Given the description of an element on the screen output the (x, y) to click on. 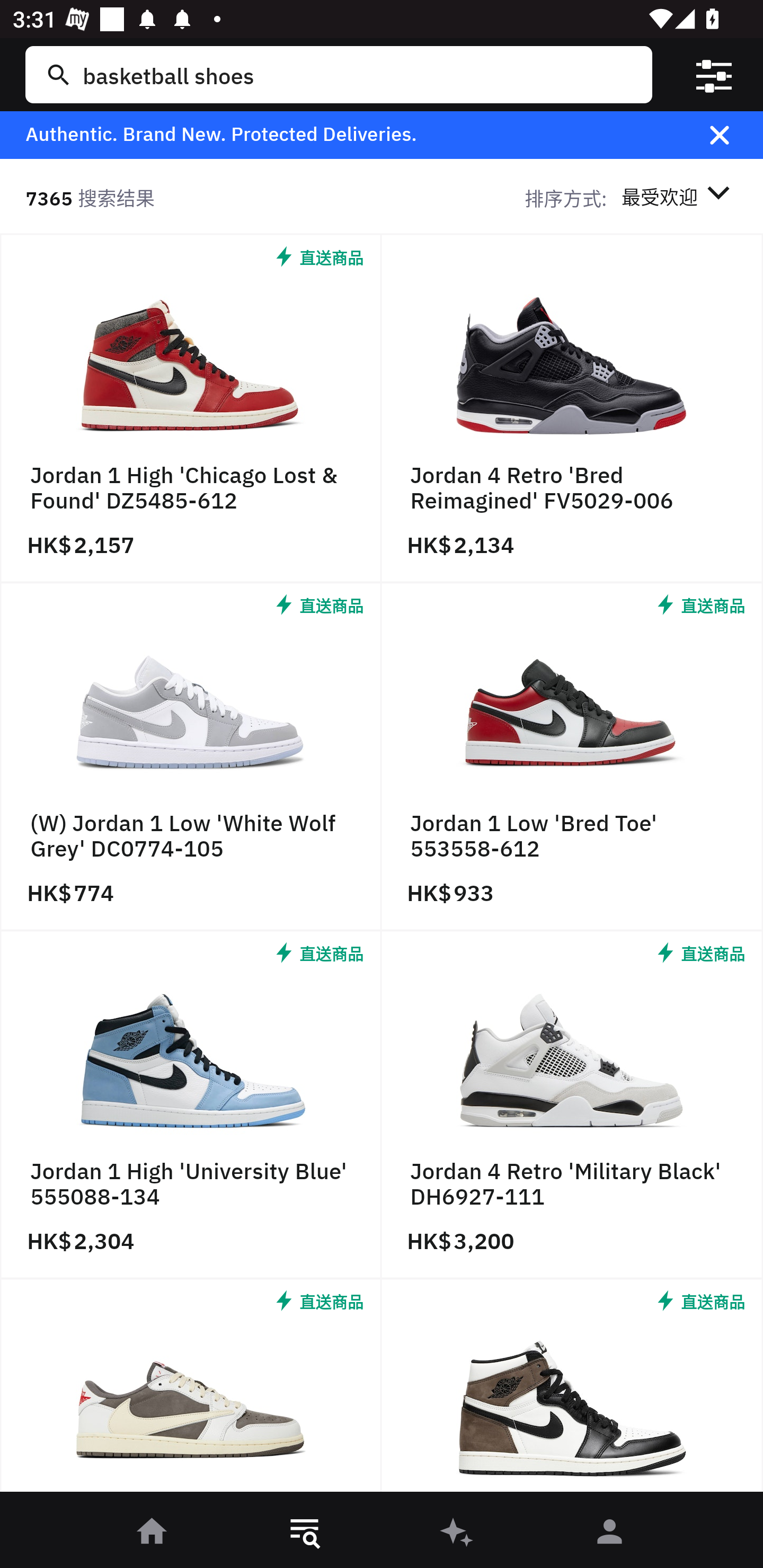
basketball shoes (358, 74)
 (713, 74)
Authentic. Brand New. Protected Deliveries. (350, 134)
 (732, 134)
最受欢迎  (678, 196)
 直送商品 Jordan 1 Low 'Bred Toe' 553558-612 HK$ 933 (572, 757)
 直送商品 (190, 1389)
 直送商品 (572, 1389)
󰋜 (152, 1532)
󱎸 (305, 1532)
󰫢 (457, 1532)
󰀄 (610, 1532)
